Given the description of an element on the screen output the (x, y) to click on. 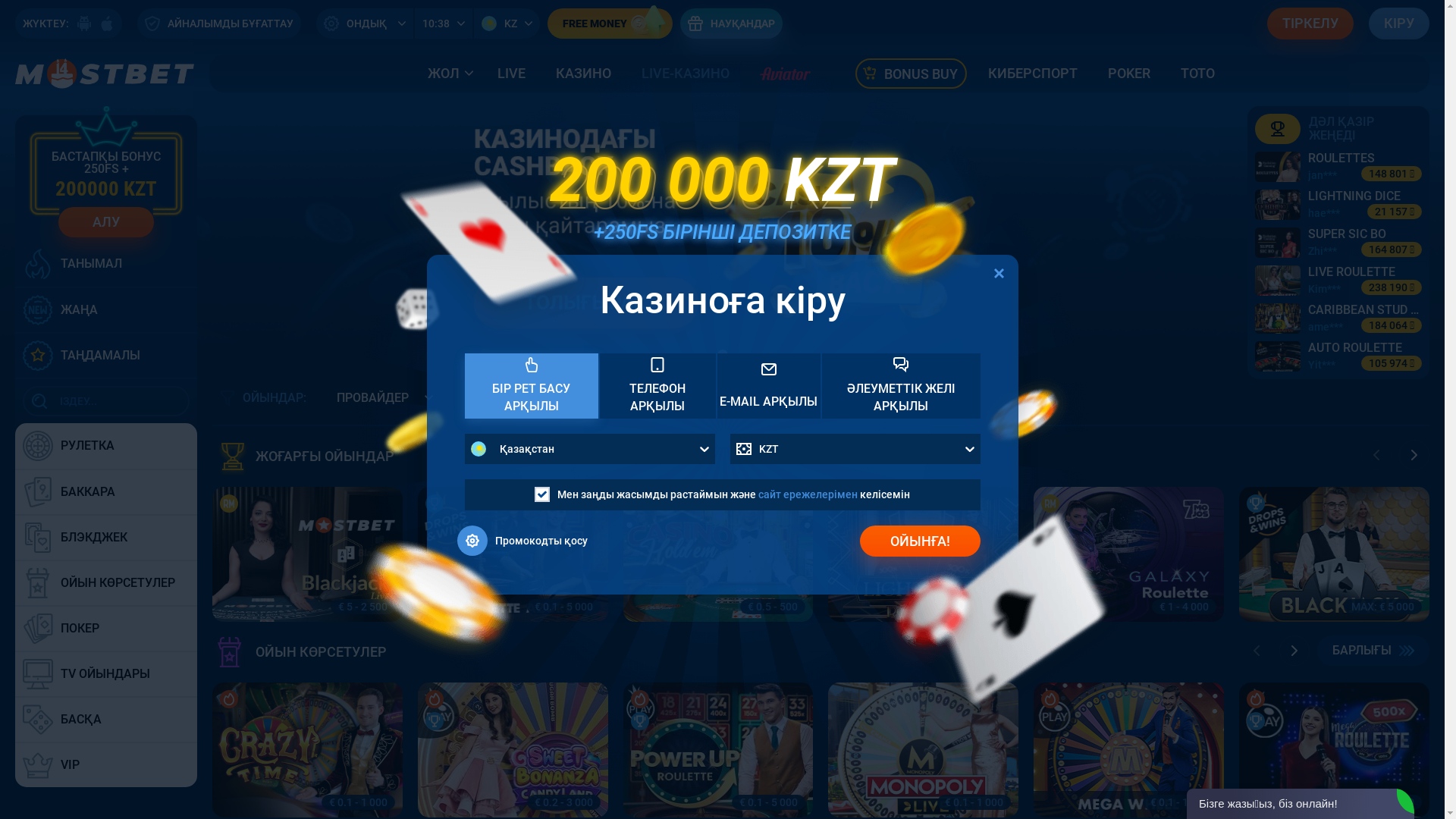
BONUS BUY Element type: text (909, 73)
FREE MONEY Element type: text (609, 23)
VIP Element type: text (106, 764)
KZ Element type: text (506, 23)
POKER Element type: text (1128, 73)
10:38 Element type: text (443, 23)
LIVE Element type: text (511, 73)
